Given the description of an element on the screen output the (x, y) to click on. 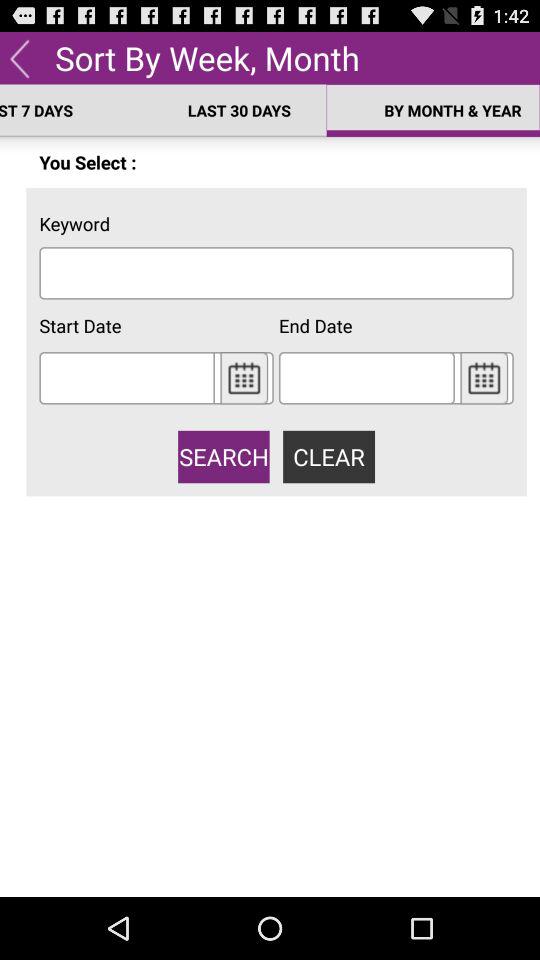
back to menu (19, 57)
